Given the description of an element on the screen output the (x, y) to click on. 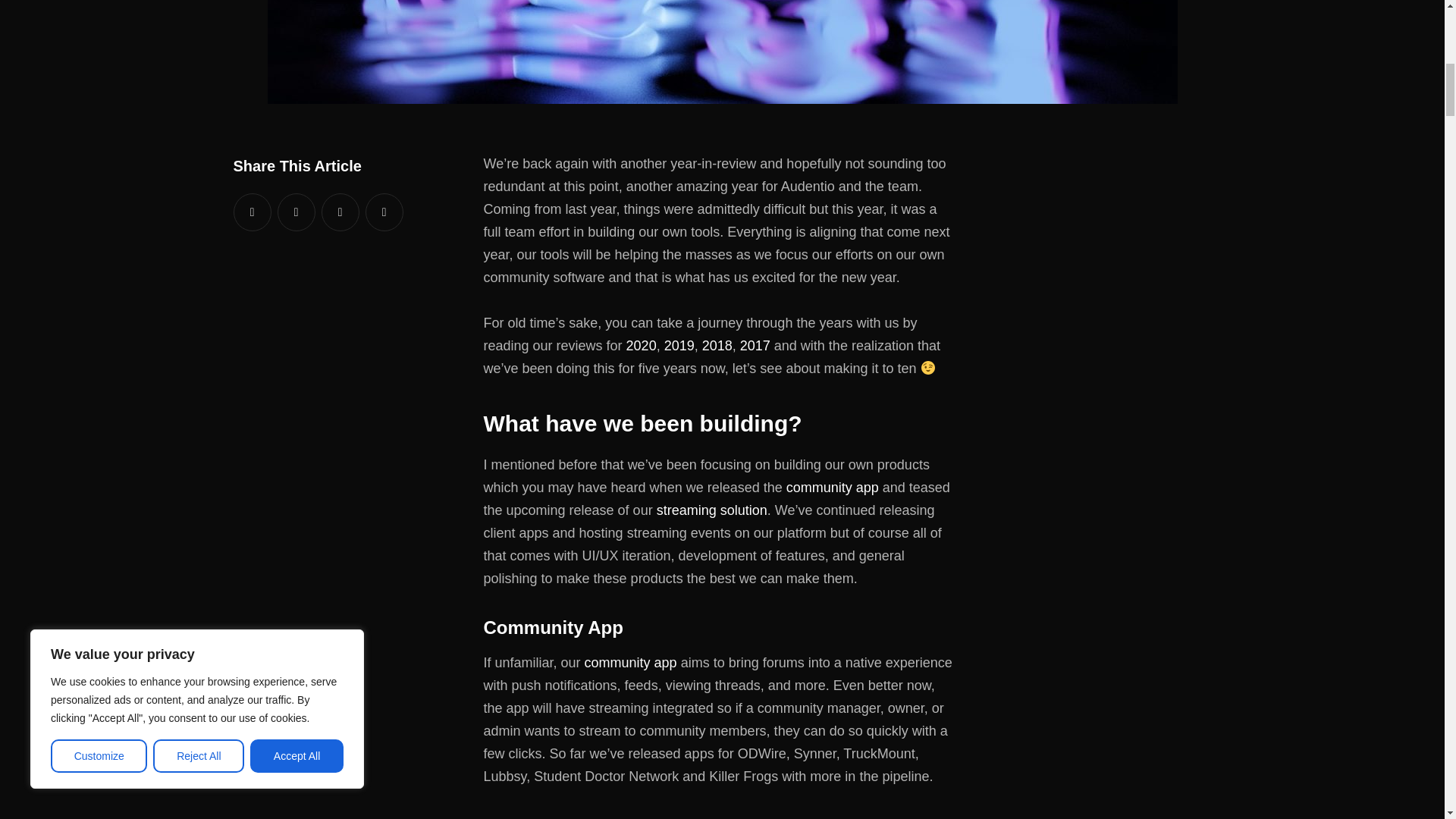
Copy URL to clipboard (384, 211)
